Given the description of an element on the screen output the (x, y) to click on. 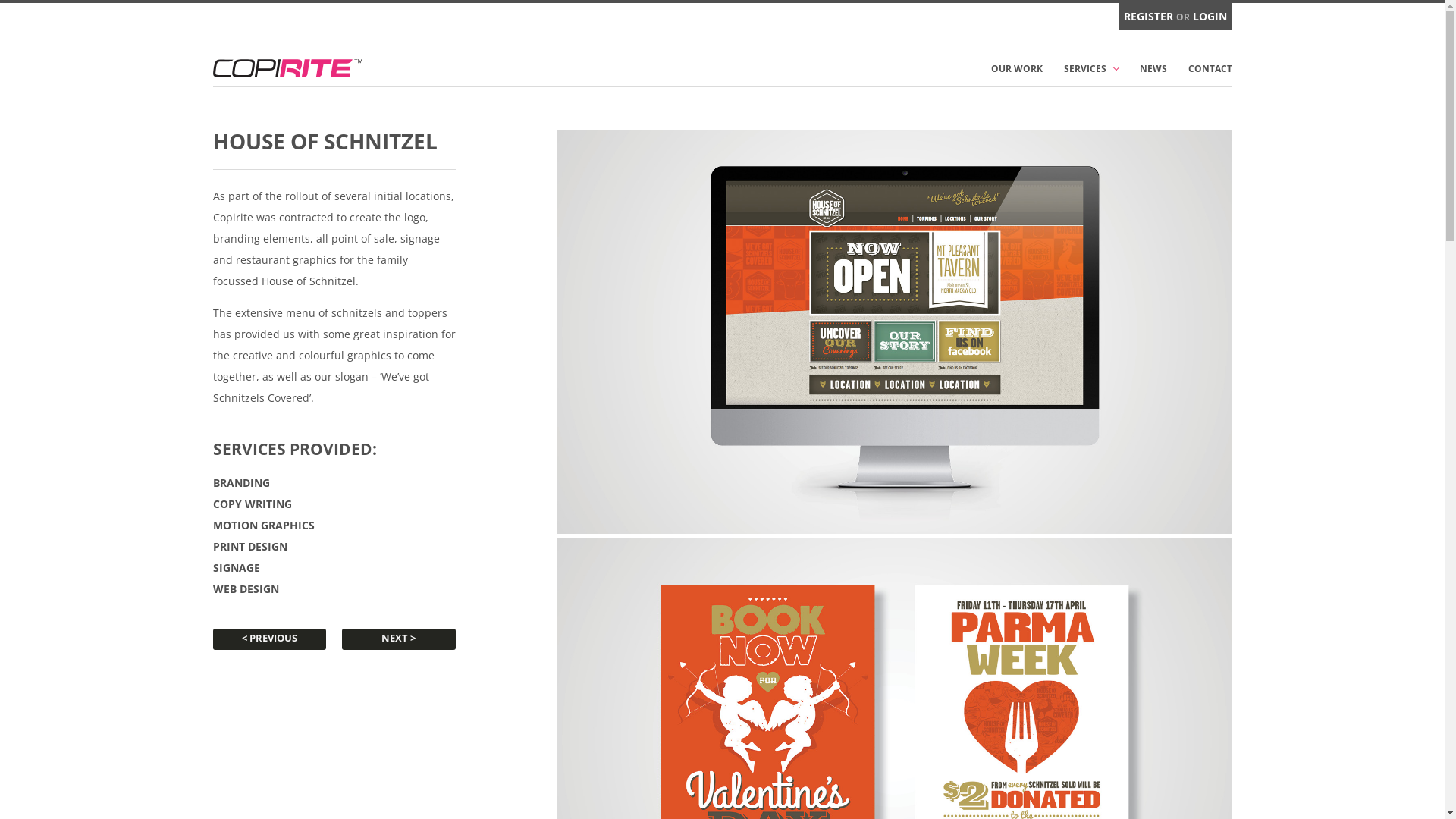
MOTION GRAPHICS Element type: text (333, 525)
REGISTER Element type: text (1148, 16)
WEB DESIGN Element type: text (333, 588)
CONTACT Element type: text (1209, 68)
NEXT > Element type: text (398, 638)
LOGIN Element type: text (1209, 16)
OUR WORK Element type: text (1015, 68)
PRINT DESIGN Element type: text (333, 546)
SIGNAGE Element type: text (333, 567)
NEWS Element type: text (1152, 68)
< PREVIOUS Element type: text (269, 638)
BRANDING Element type: text (333, 482)
SERVICES Element type: text (1090, 68)
COPY WRITING Element type: text (333, 503)
